Given the description of an element on the screen output the (x, y) to click on. 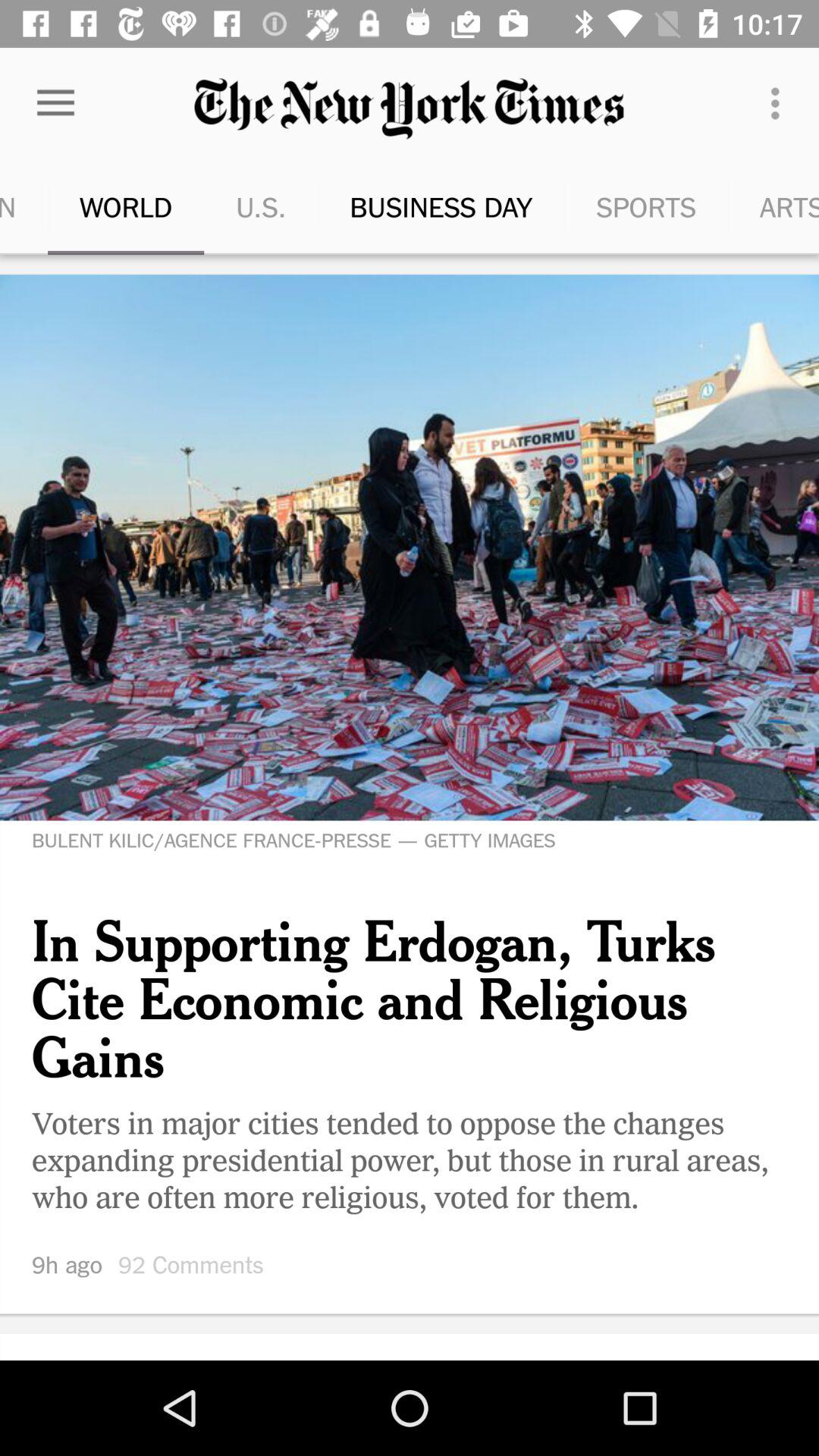
launch the icon next to the u.s. icon (55, 103)
